Given the description of an element on the screen output the (x, y) to click on. 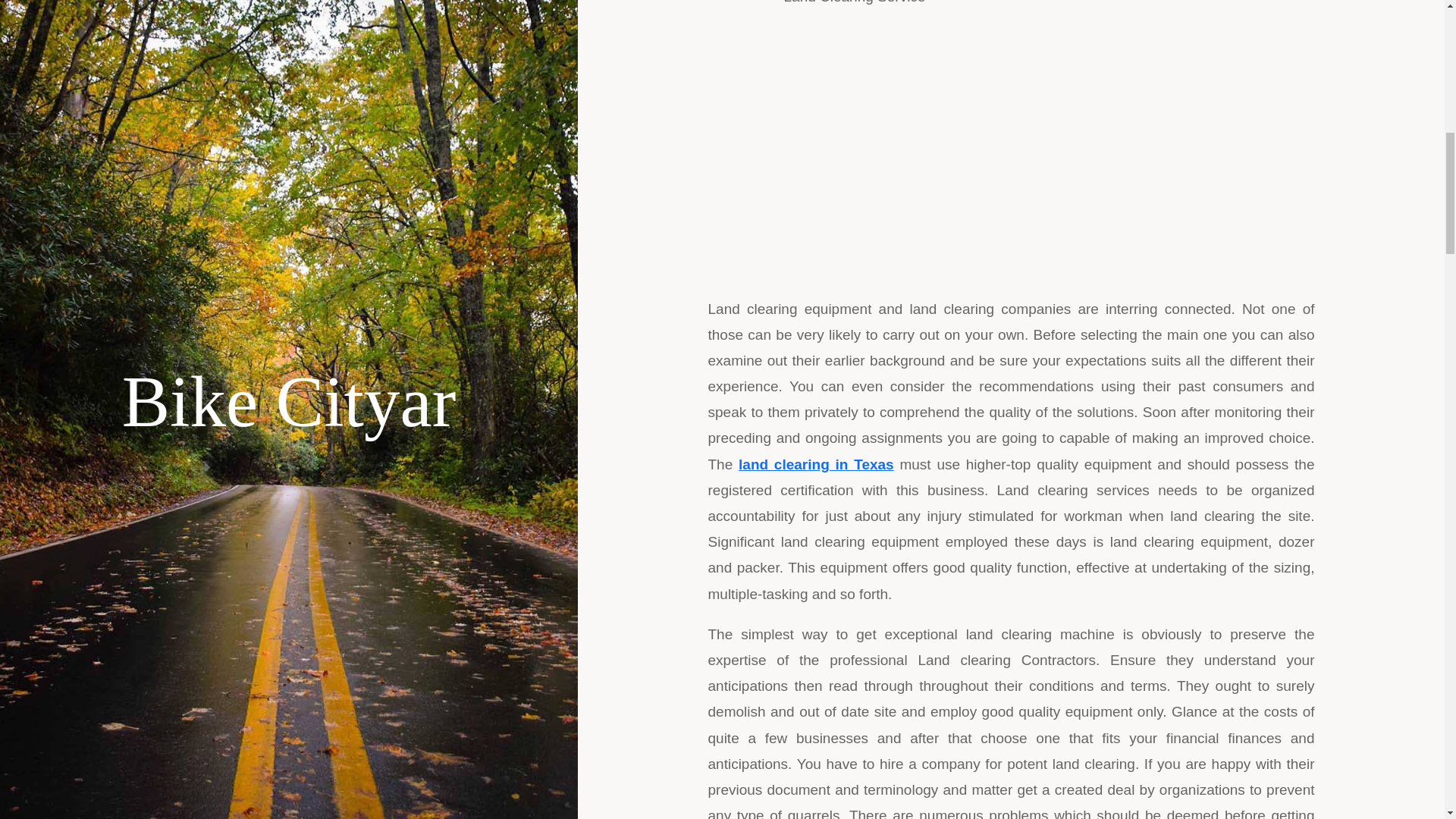
land clearing in Texas (815, 464)
